Given the description of an element on the screen output the (x, y) to click on. 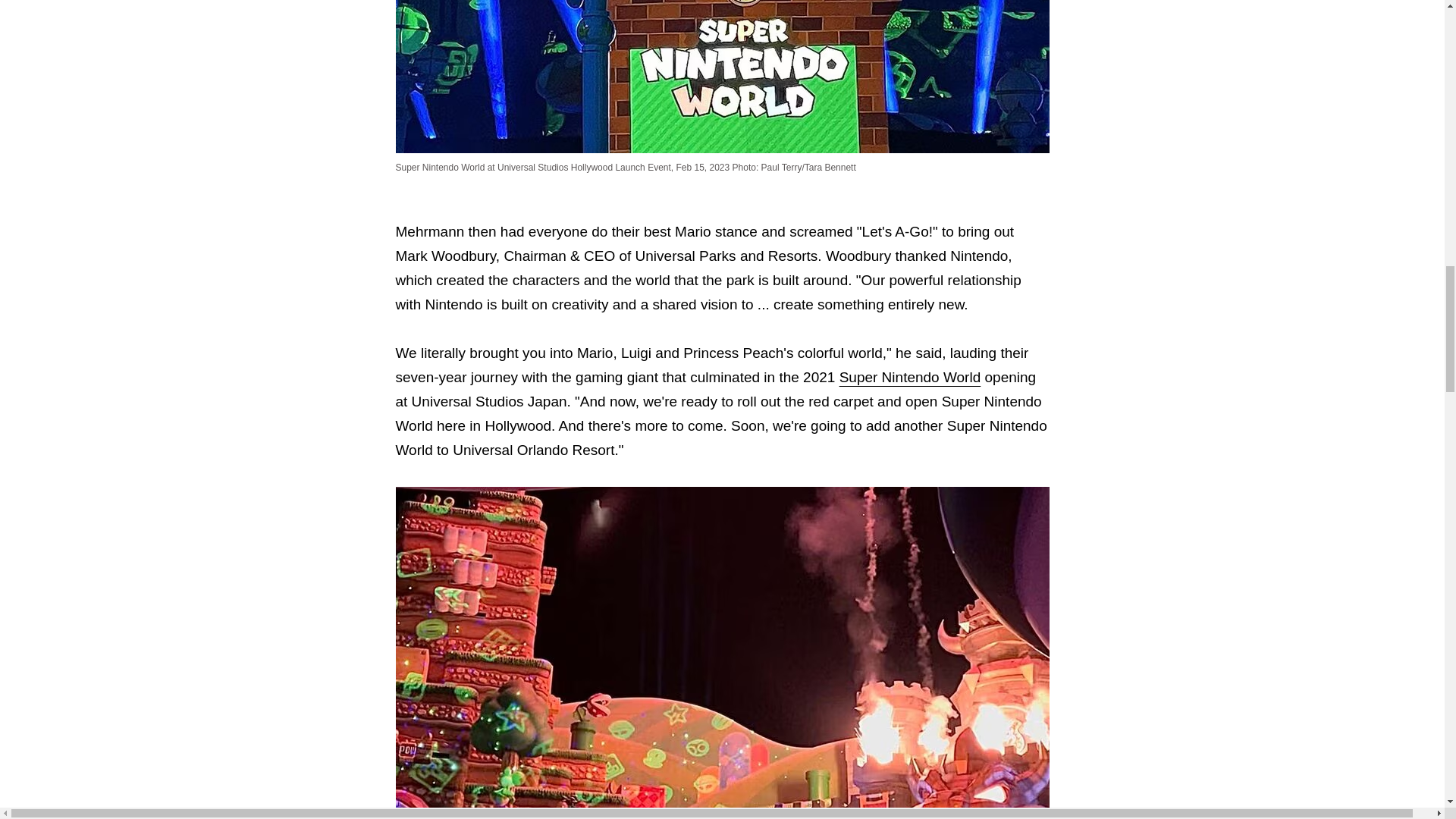
Super Nintendo World (910, 376)
